Given the description of an element on the screen output the (x, y) to click on. 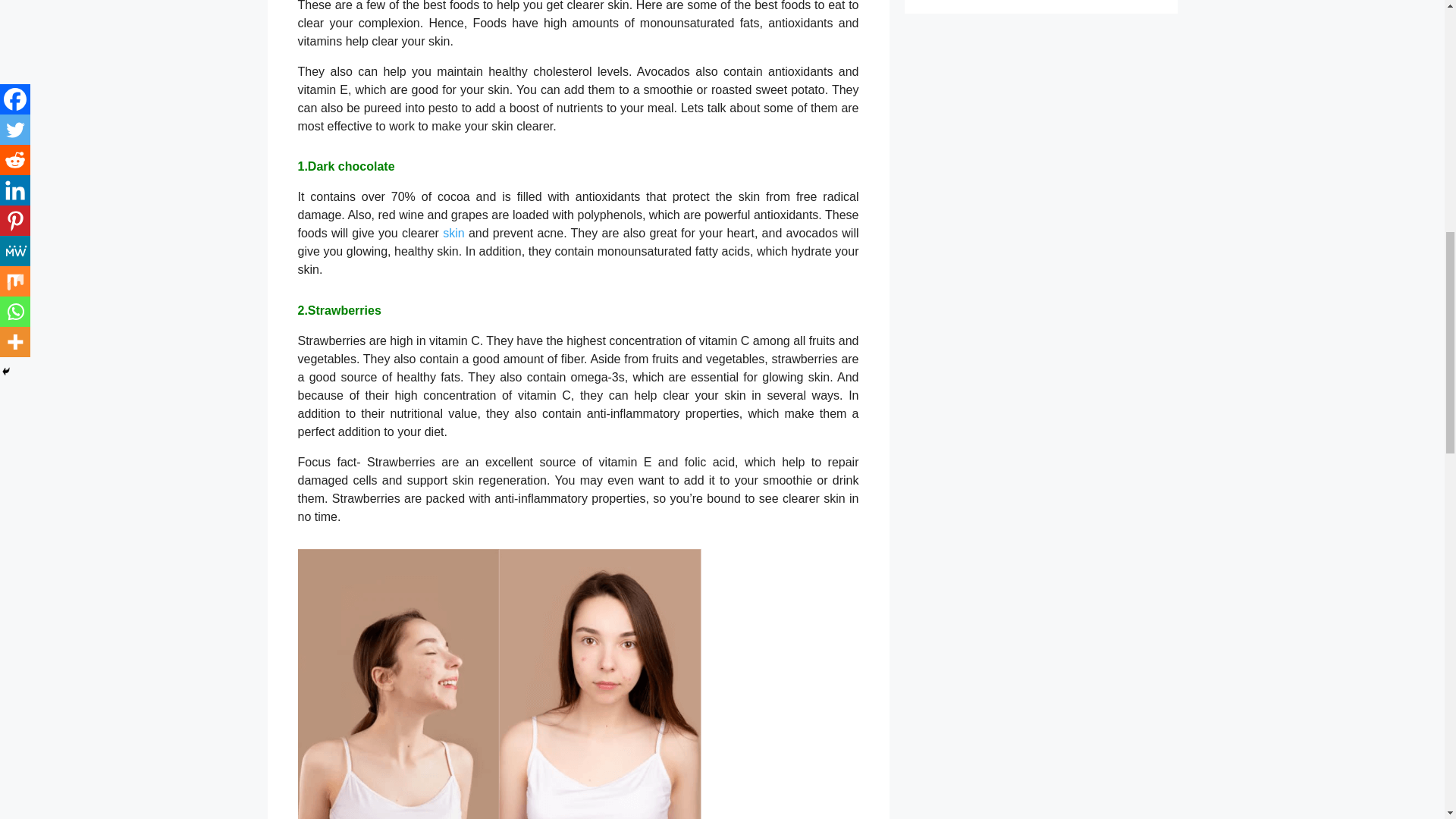
acne clear (499, 683)
skin (453, 236)
